Given the description of an element on the screen output the (x, y) to click on. 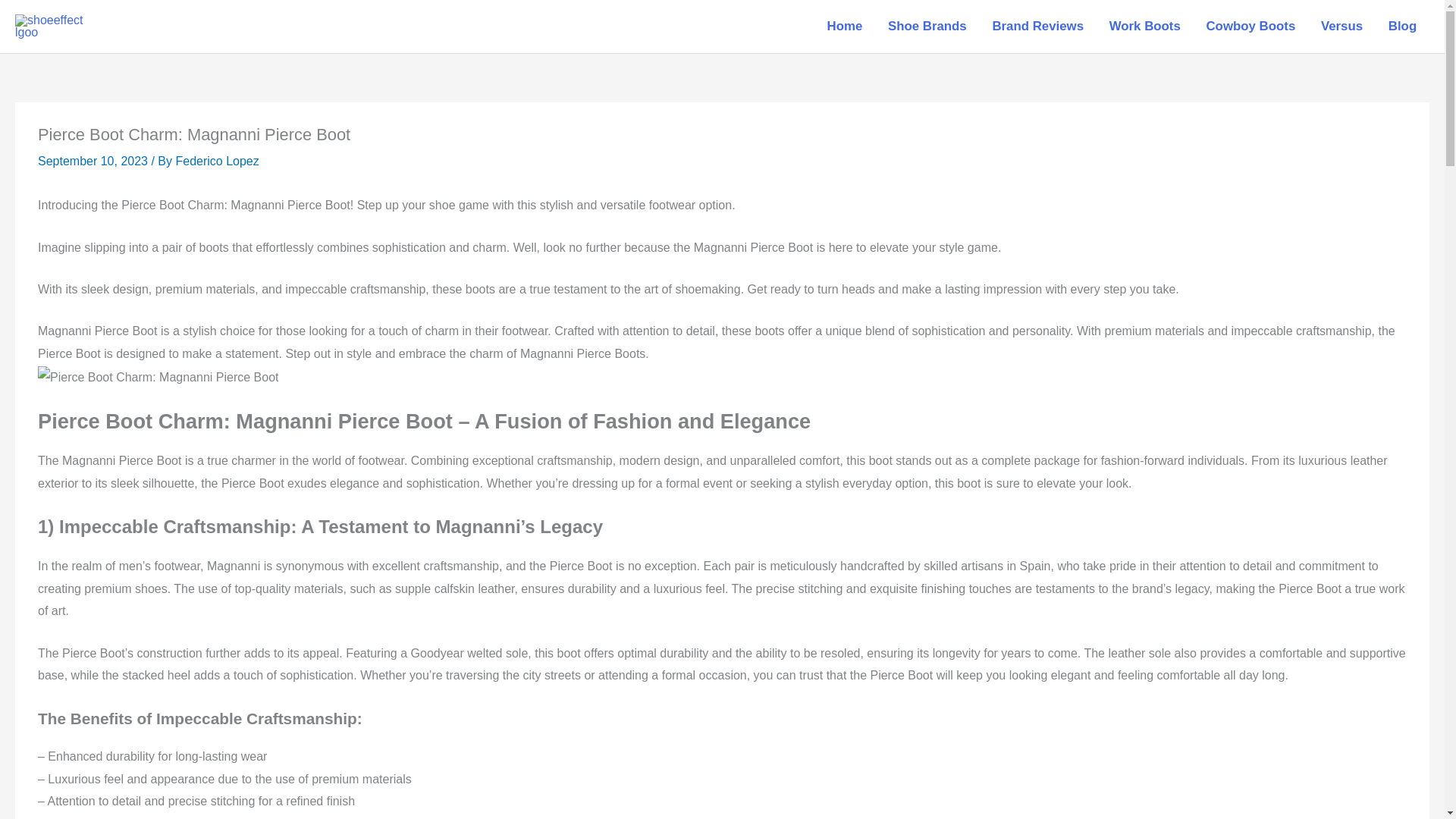
Brand Reviews (1037, 26)
Shoe Brands (926, 26)
Blog (1402, 26)
Work Boots (1144, 26)
Home (844, 26)
Versus (1341, 26)
View all posts by Federico Lopez (216, 160)
Federico Lopez (216, 160)
Cowboy Boots (1250, 26)
